Given the description of an element on the screen output the (x, y) to click on. 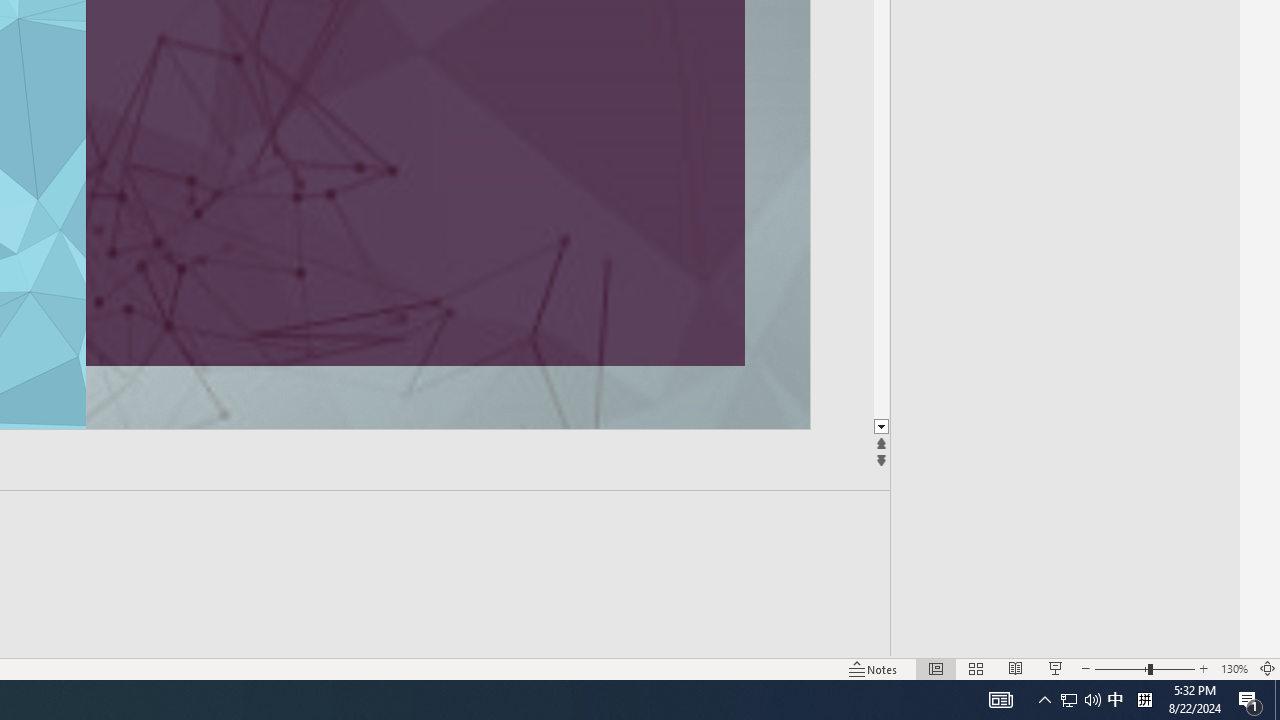
Zoom 130% (1234, 668)
